Given the description of an element on the screen output the (x, y) to click on. 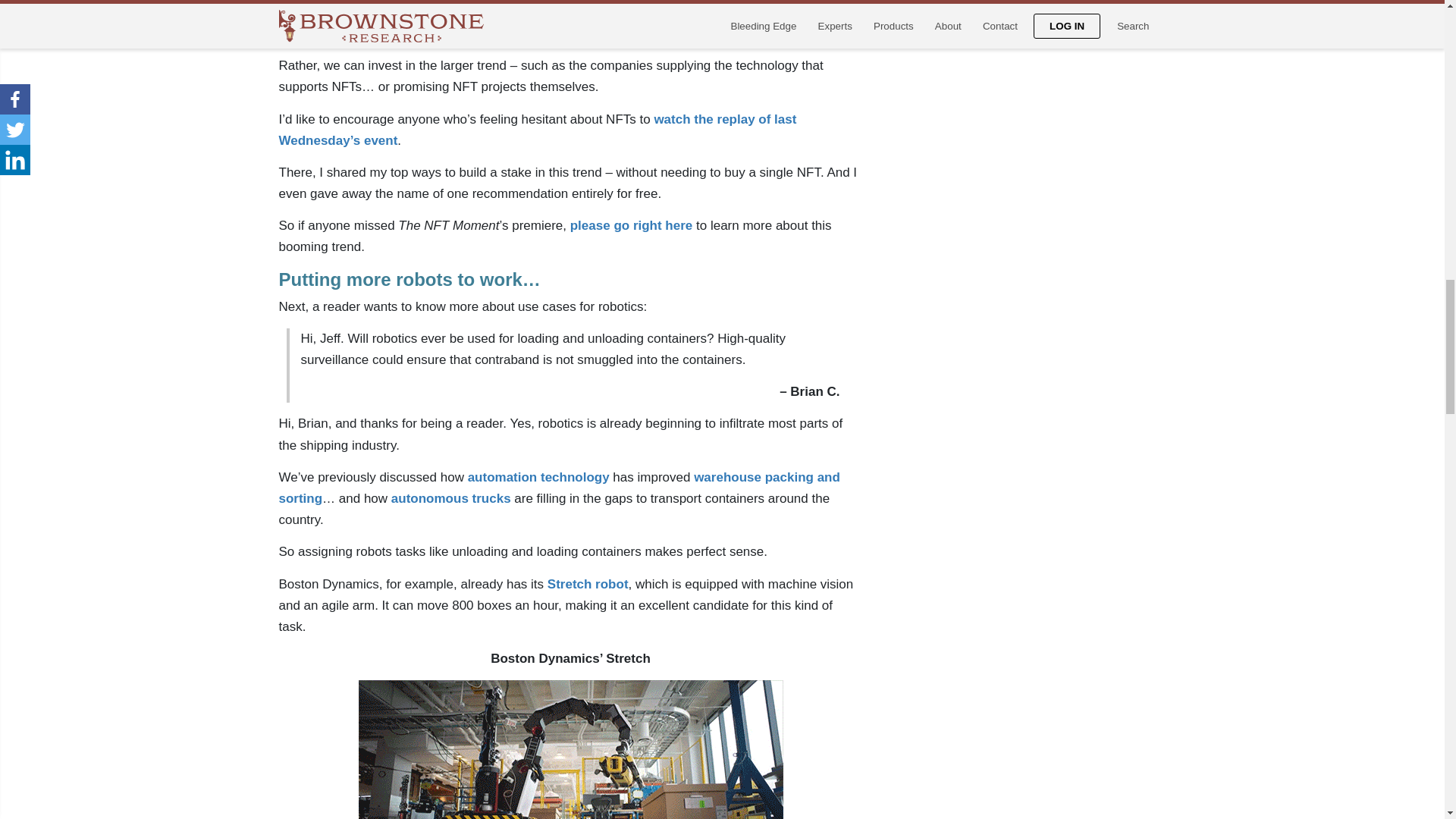
automation technology (538, 477)
autonomous trucks (451, 498)
warehouse packing and sorting (559, 488)
Stretch robot (587, 584)
please go right here (631, 225)
